Given the description of an element on the screen output the (x, y) to click on. 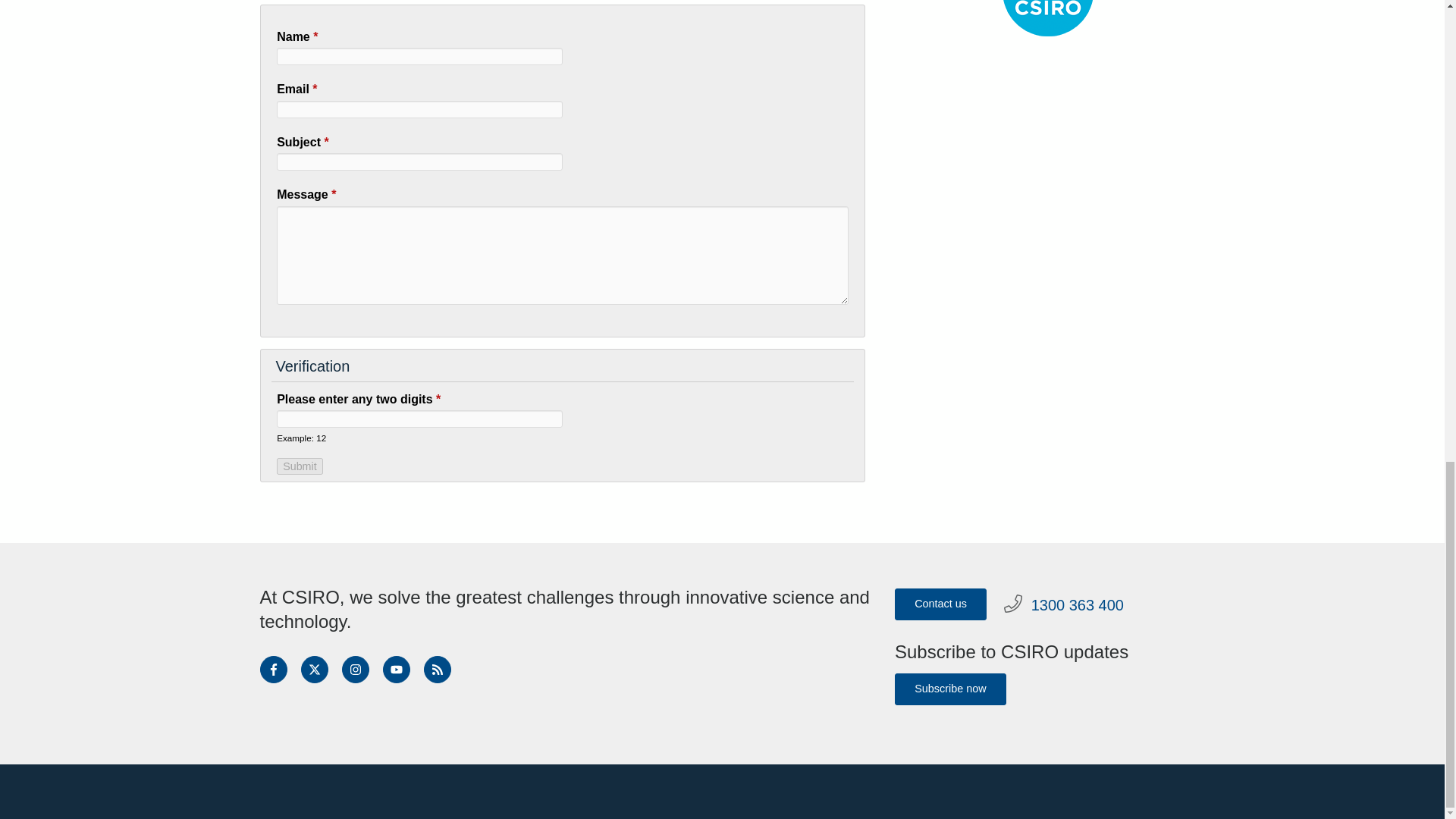
Submit (299, 466)
